Given the description of an element on the screen output the (x, y) to click on. 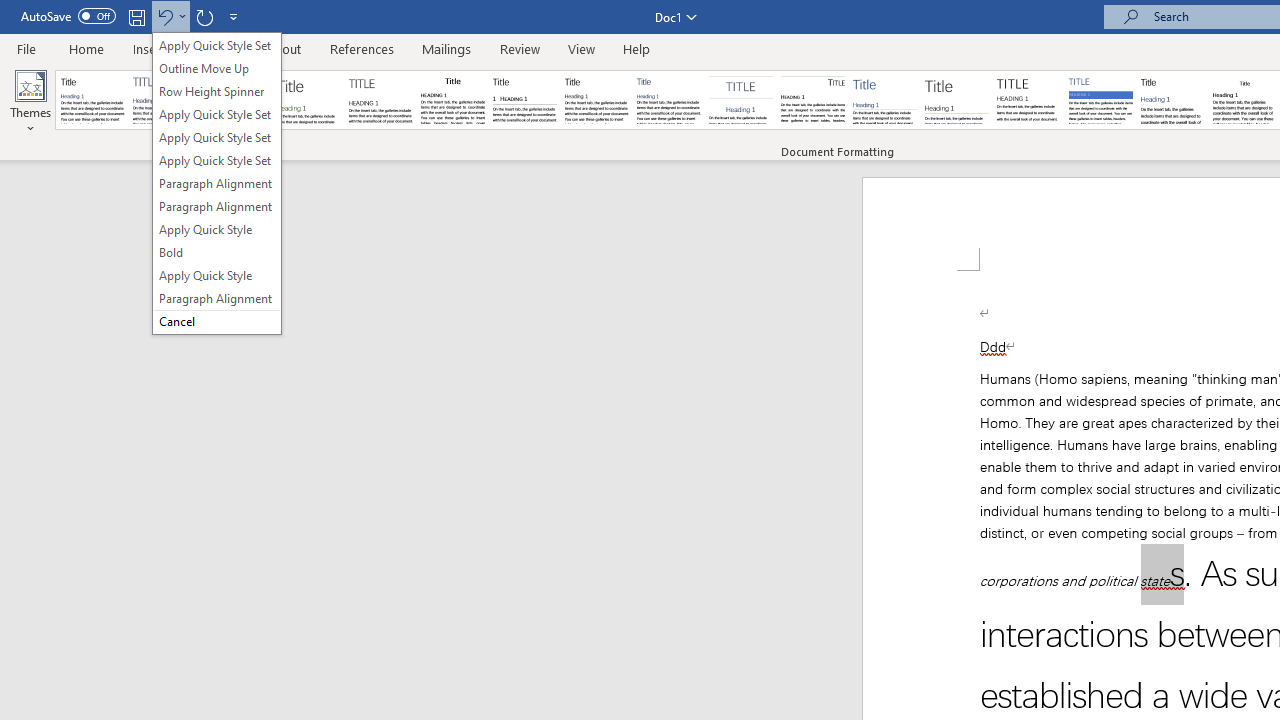
Shaded (1100, 100)
